Given the description of an element on the screen output the (x, y) to click on. 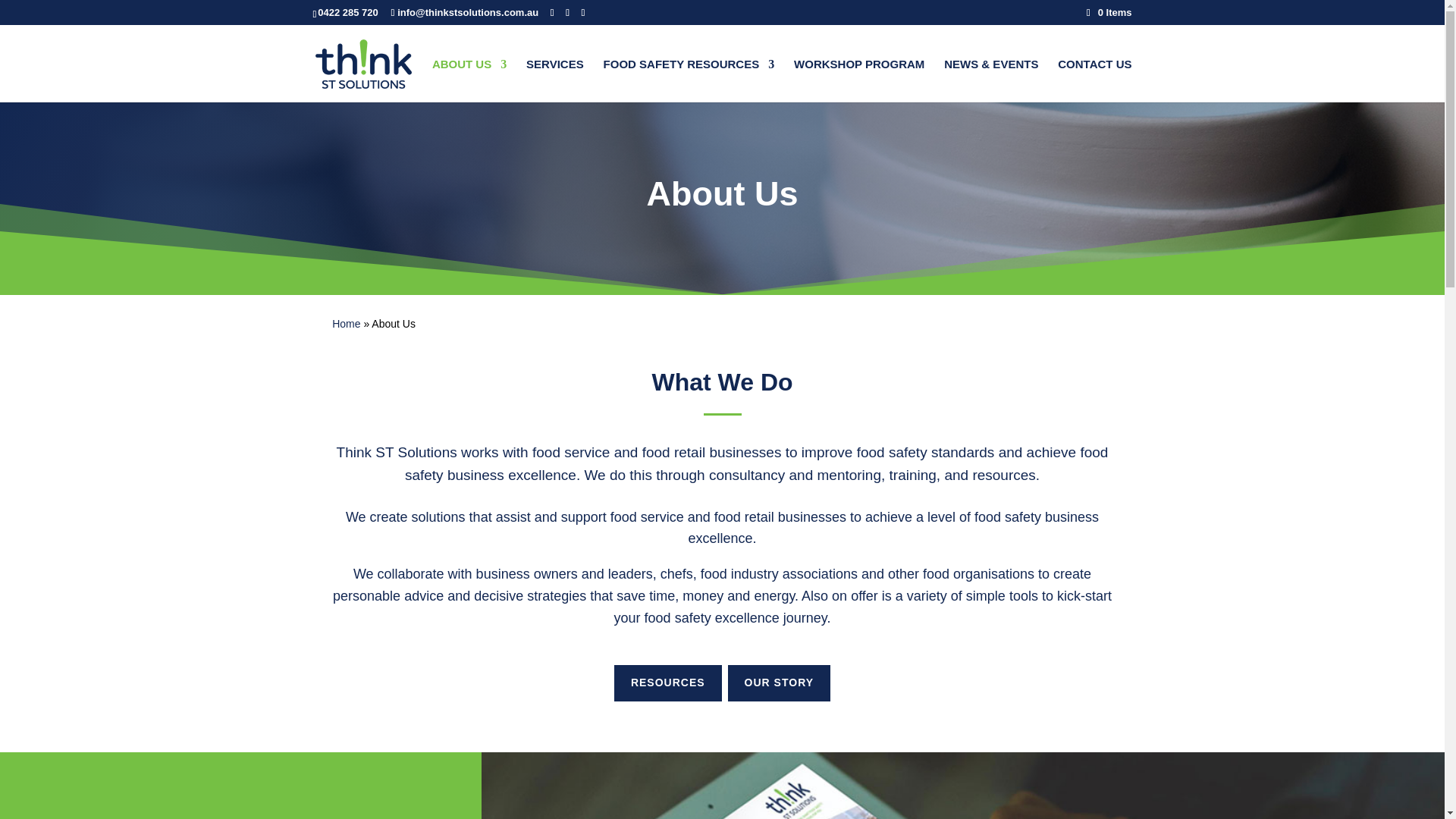
ABOUT US (469, 80)
CONTACT US (1094, 80)
SERVICES (554, 80)
Home (345, 322)
FOOD SAFETY RESOURCES (689, 80)
0 Items (1109, 12)
0422 285 720 (347, 12)
RESOURCES (668, 682)
WORKSHOP PROGRAM (858, 80)
